Given the description of an element on the screen output the (x, y) to click on. 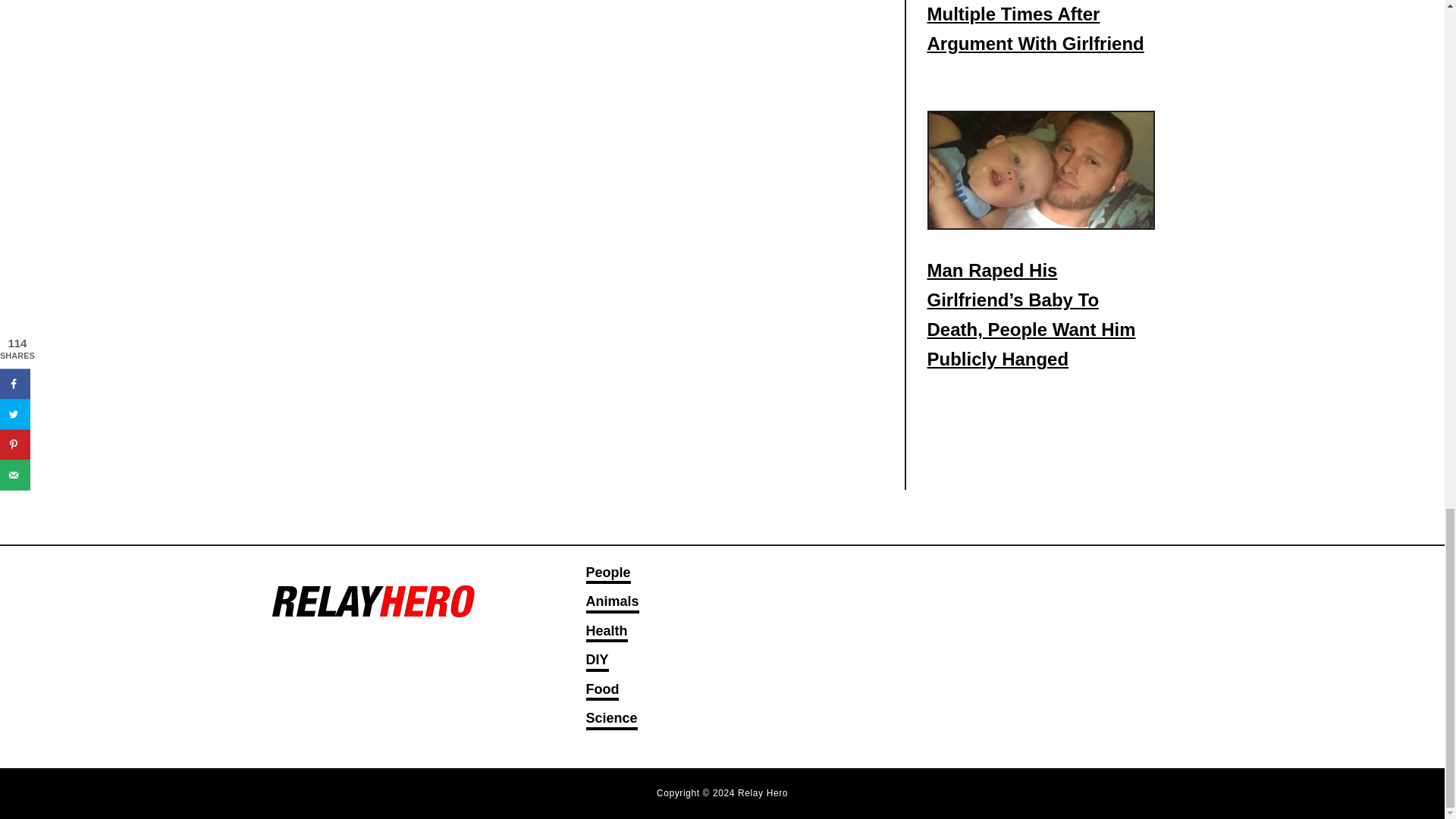
Science (611, 720)
Food (601, 690)
DIY (596, 661)
People (607, 574)
Health (606, 632)
Animals (612, 602)
